Given the description of an element on the screen output the (x, y) to click on. 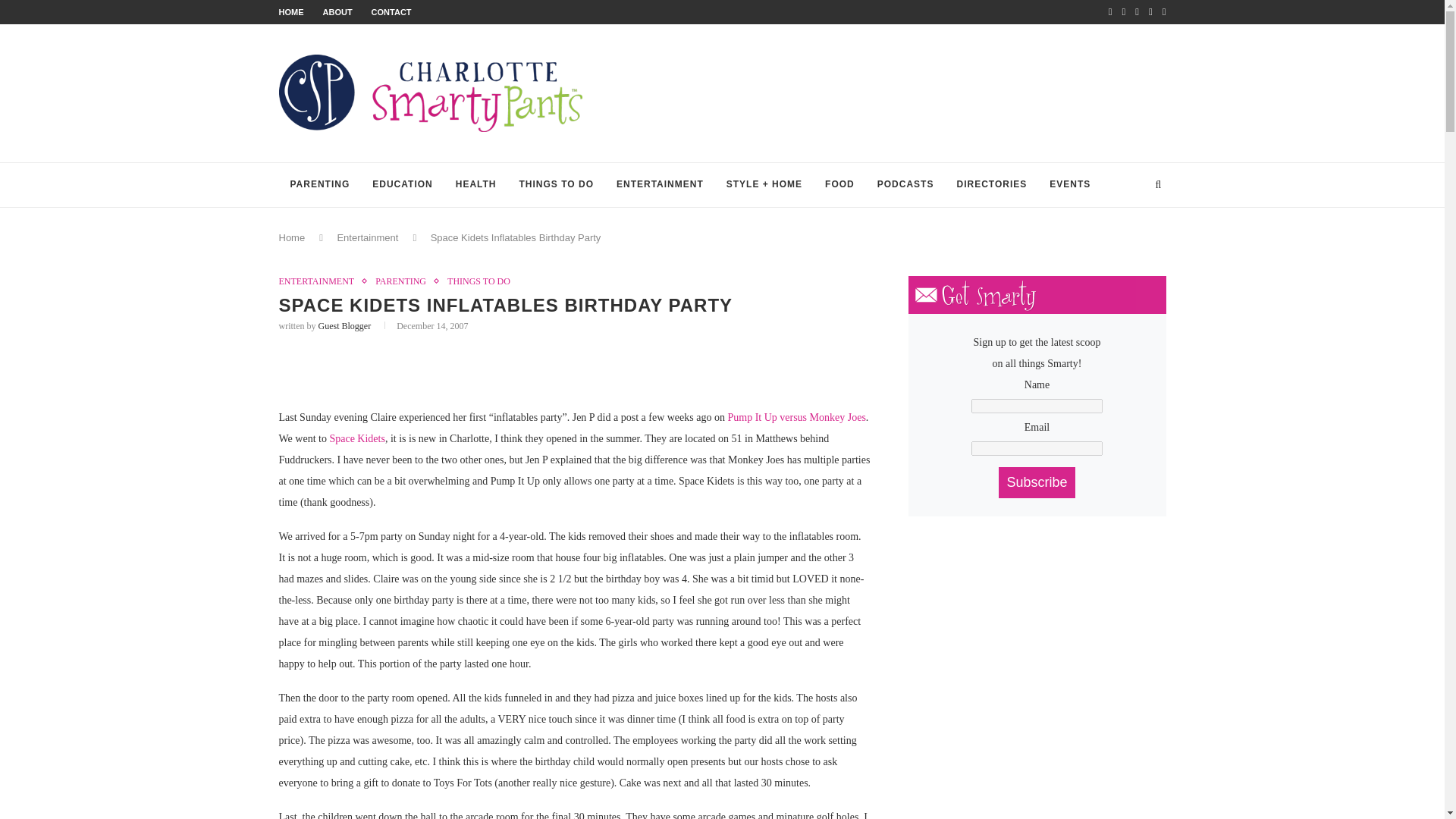
Home (292, 237)
PODCASTS (905, 185)
DIRECTORIES (991, 185)
CONTACT (391, 11)
ENTERTAINMENT (659, 185)
FOOD (839, 185)
THINGS TO DO (556, 185)
PARENTING (404, 281)
EVENTS (1070, 185)
ENTERTAINMENT (320, 281)
PARENTING (320, 185)
HOME (291, 11)
Entertainment (366, 237)
ABOUT (337, 11)
EDUCATION (402, 185)
